Given the description of an element on the screen output the (x, y) to click on. 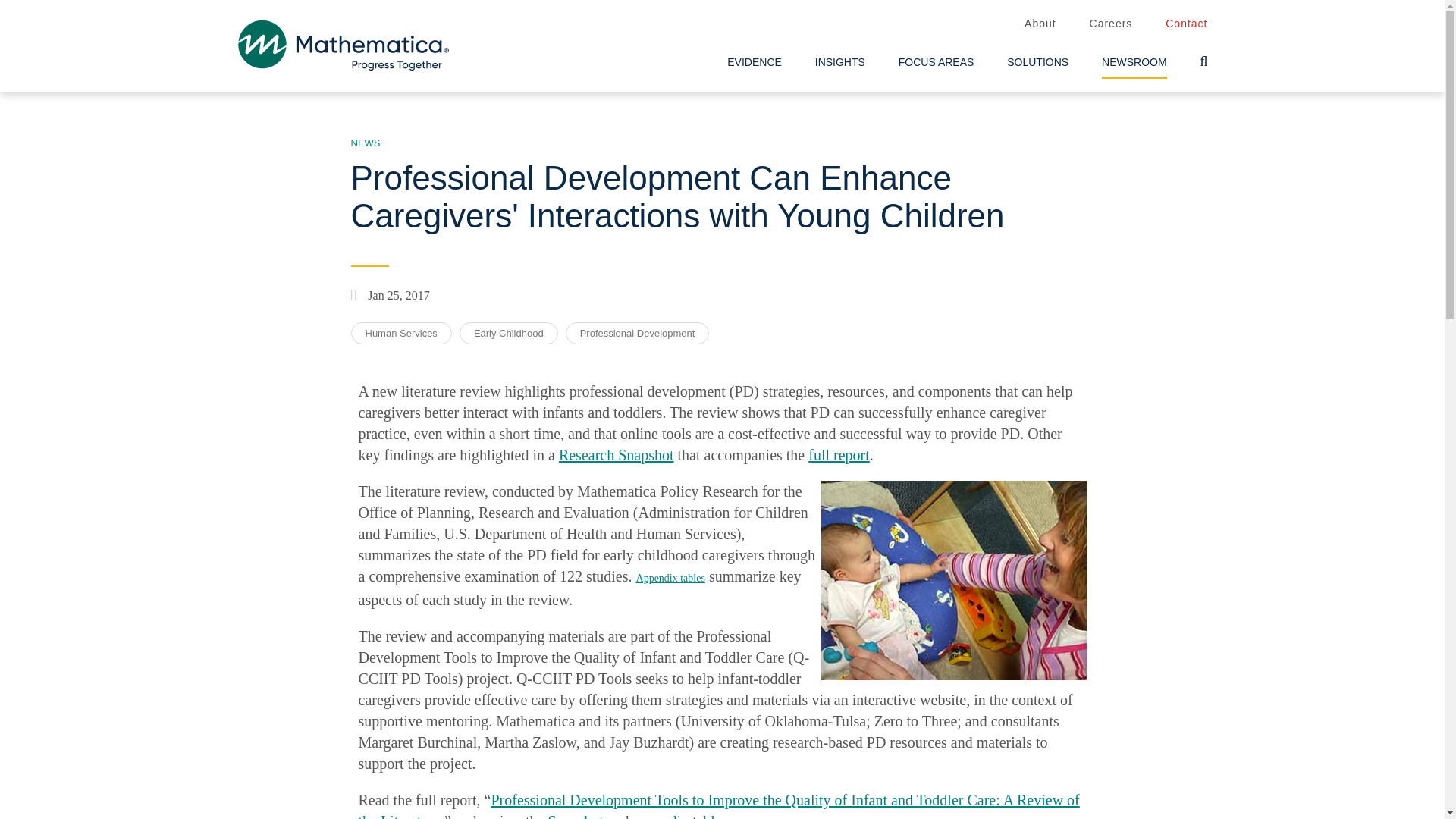
FOCUS AREAS (936, 62)
Careers (1110, 23)
SOLUTIONS (1037, 62)
EVIDENCE (753, 62)
About (1041, 23)
Contact (1186, 23)
INSIGHTS (839, 62)
NEWSROOM (1134, 62)
